Given the description of an element on the screen output the (x, y) to click on. 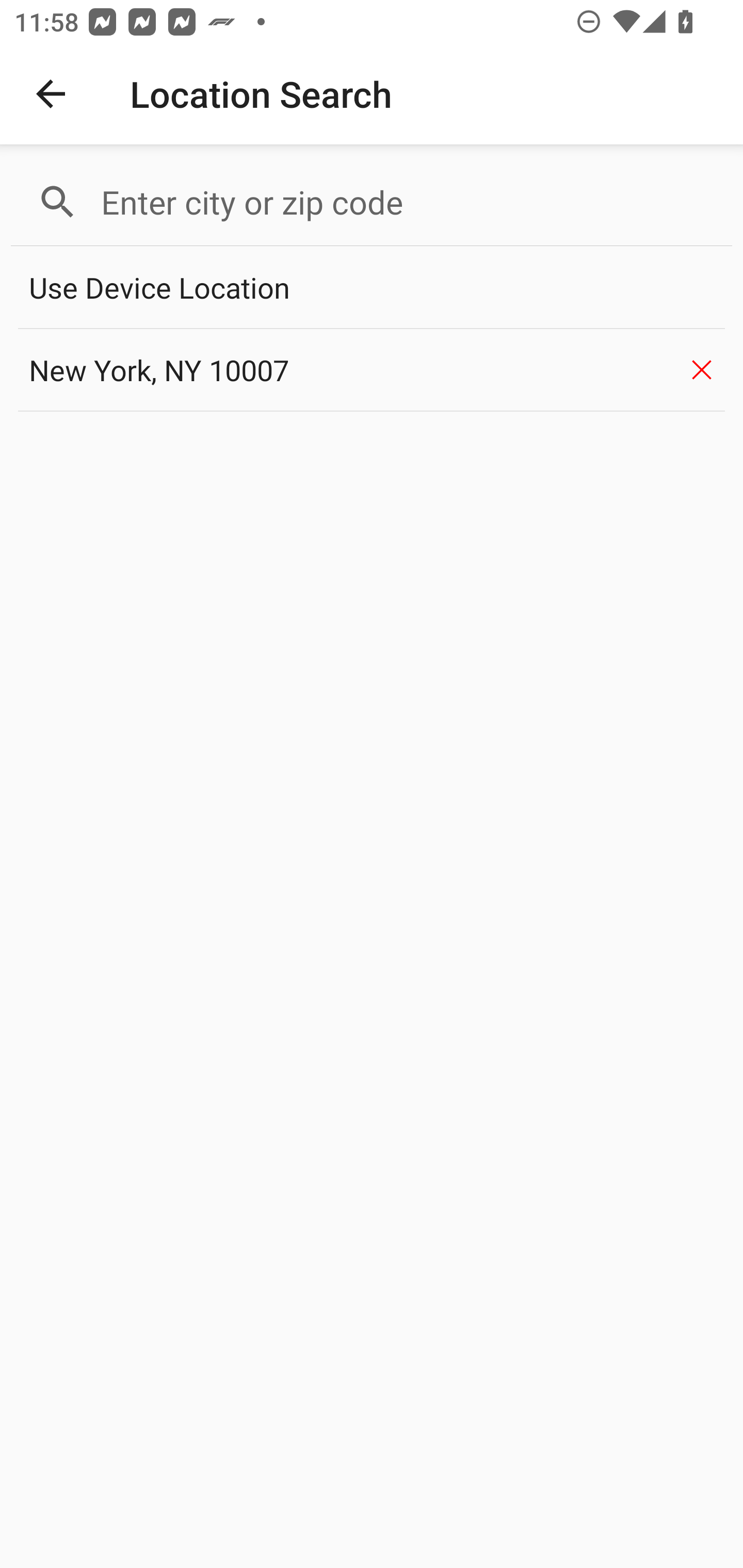
Navigate up (50, 93)
Enter city or zip code (407, 202)
Use Device Location (371, 287)
